Given the description of an element on the screen output the (x, y) to click on. 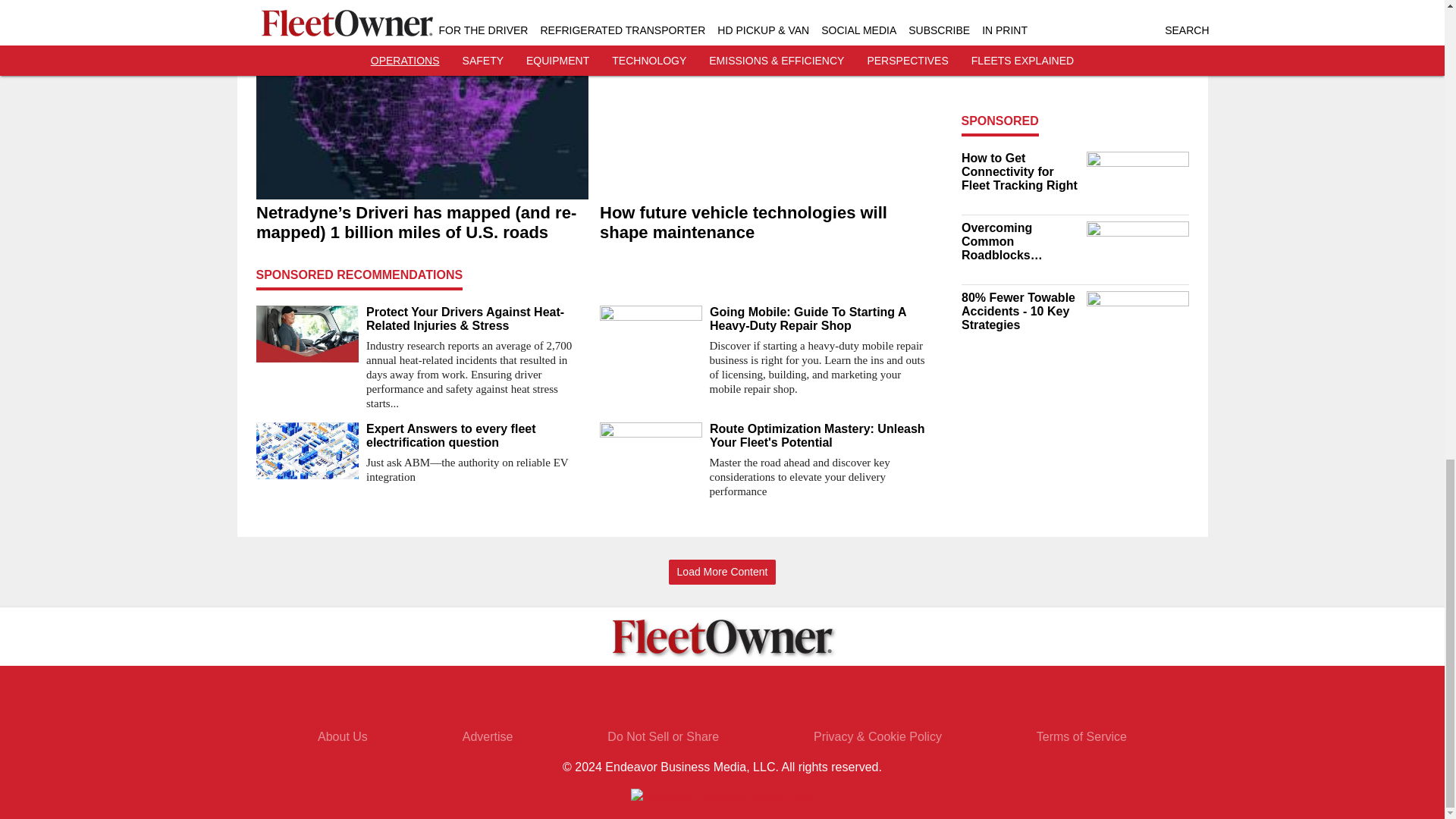
How future vehicle technologies will shape maintenance (764, 222)
Expert Answers to every fleet electrification question (476, 435)
Route Optimization Mastery: Unleash Your Fleet's Potential (820, 435)
Going Mobile: Guide To Starting A Heavy-Duty Repair Shop (820, 318)
